Given the description of an element on the screen output the (x, y) to click on. 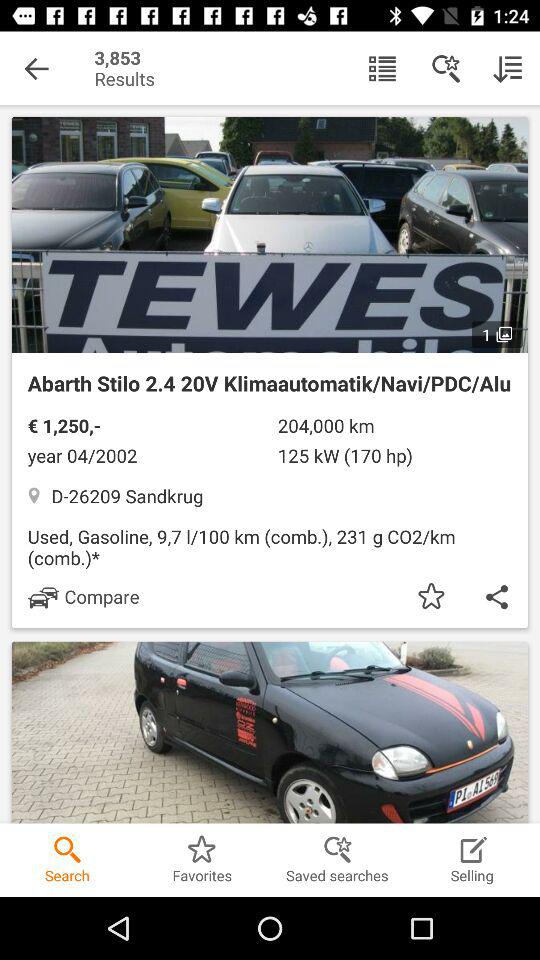
choose icon next to the results icon (381, 67)
